Given the description of an element on the screen output the (x, y) to click on. 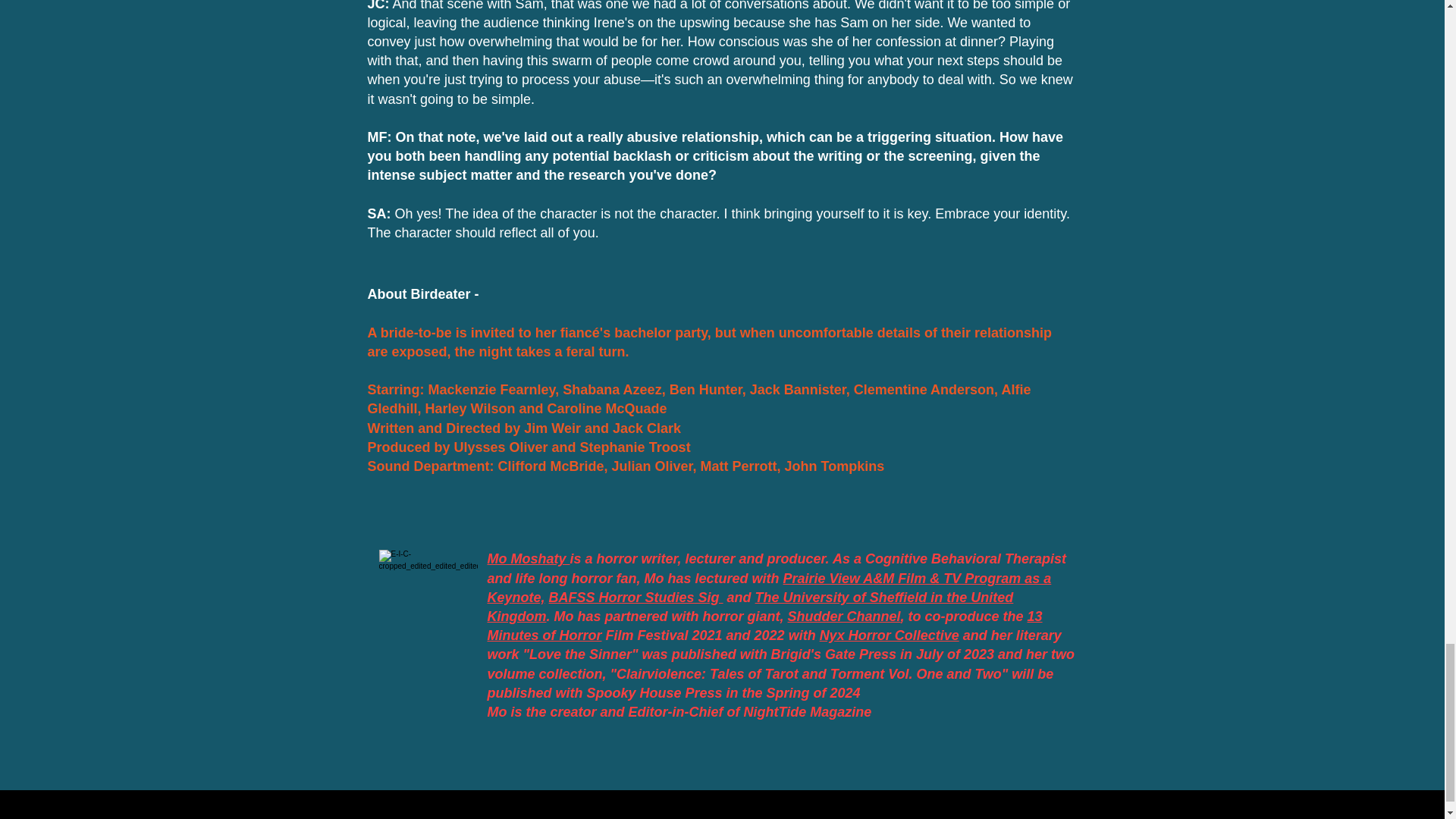
The University of Sheffield in the United Kingdom (749, 606)
BAFSS Horror Studies Sig  (635, 597)
Shudder Channel (844, 616)
13 Minutes of Horror (764, 625)
Mo Moshaty (527, 558)
Nyx Horror Collective (889, 635)
